Given the description of an element on the screen output the (x, y) to click on. 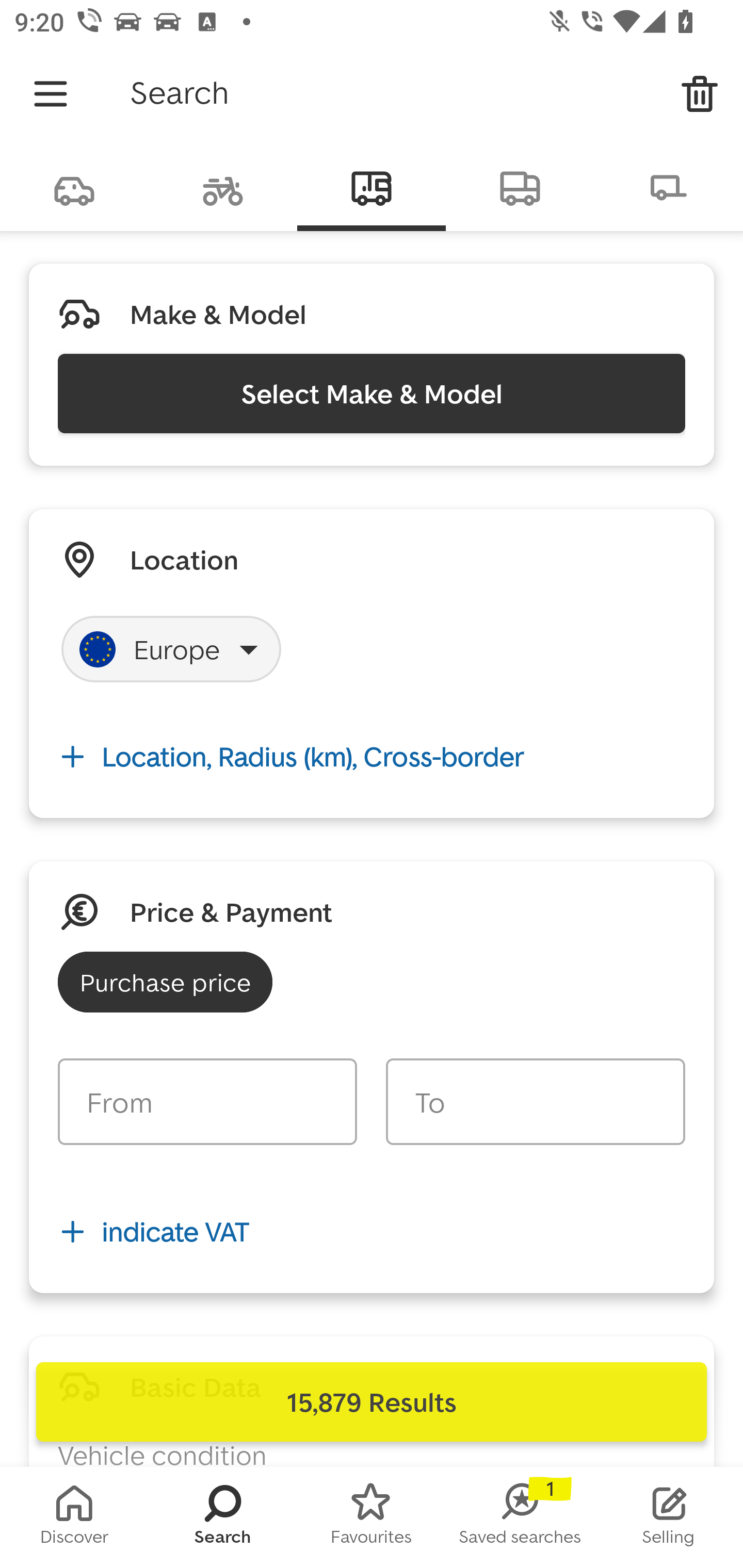
Navigate up (50, 93)
New search (699, 93)
CAR_SEARCH (74, 187)
BIKE_SEARCH (222, 187)
TRUCKS_SEARCH (519, 187)
TRAILERS_SEARCH (668, 187)
Make & Model (218, 314)
Select Make & Model (371, 393)
Location (184, 559)
Europe (170, 648)
Location, Radius (km), Cross-border (371, 756)
Price & Payment (231, 911)
Purchase price (164, 981)
From (207, 1101)
To (535, 1101)
indicate VAT (371, 1231)
15,879 Results (371, 1401)
HOMESCREEN Discover (74, 1517)
SEARCH Search (222, 1517)
FAVORITES Favourites (371, 1517)
SAVED_SEARCHES Saved searches 1 (519, 1517)
STOCK_LIST Selling (668, 1517)
